Given the description of an element on the screen output the (x, y) to click on. 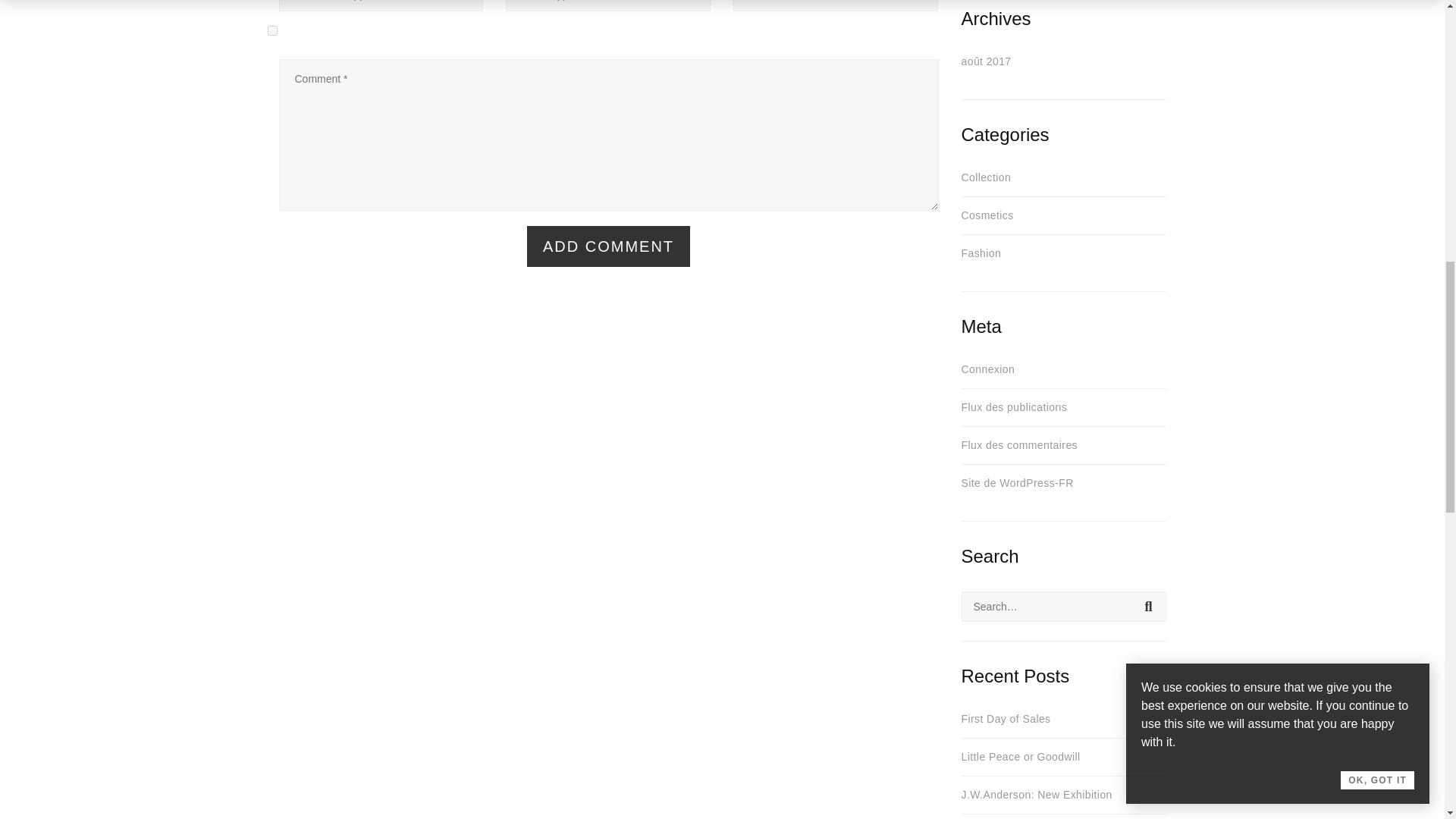
Add comment (608, 246)
Add comment (608, 246)
yes (271, 30)
